Given the description of an element on the screen output the (x, y) to click on. 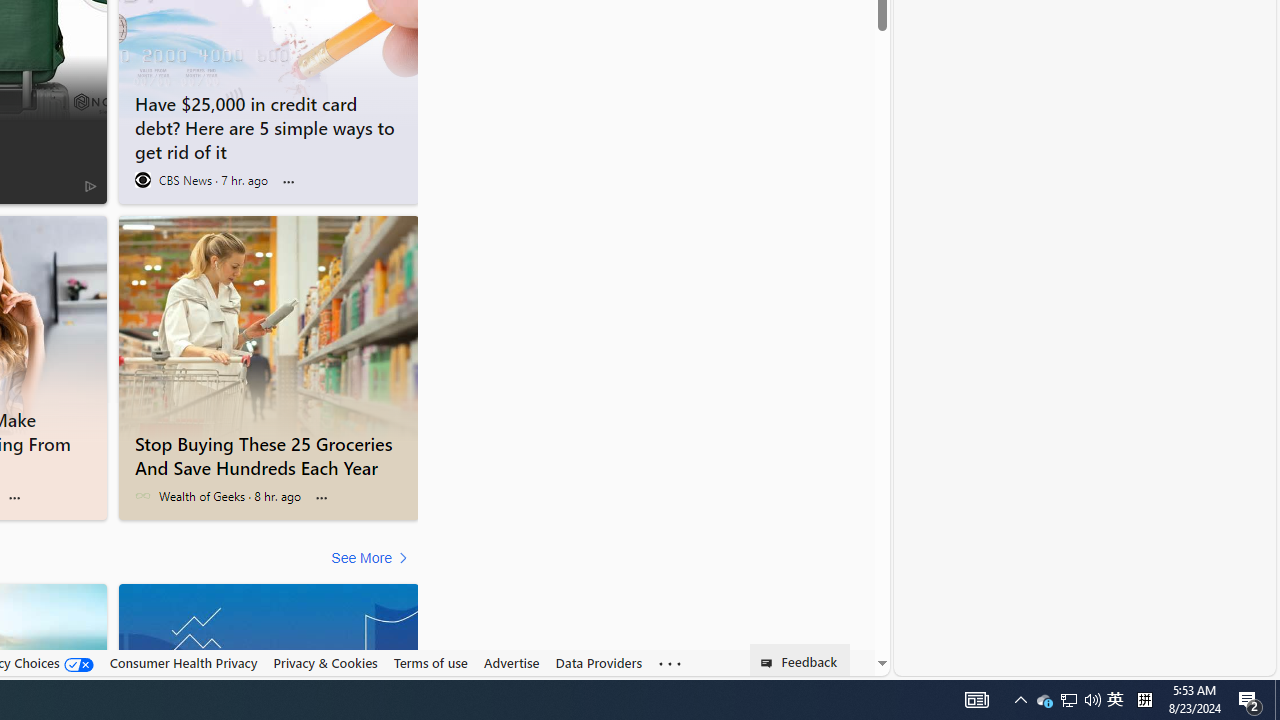
Data Providers (598, 663)
AdChoices (90, 186)
AdChoices (90, 184)
Class: oneFooter_seeMore-DS-EntryPoint1-1 (669, 663)
